Given the description of an element on the screen output the (x, y) to click on. 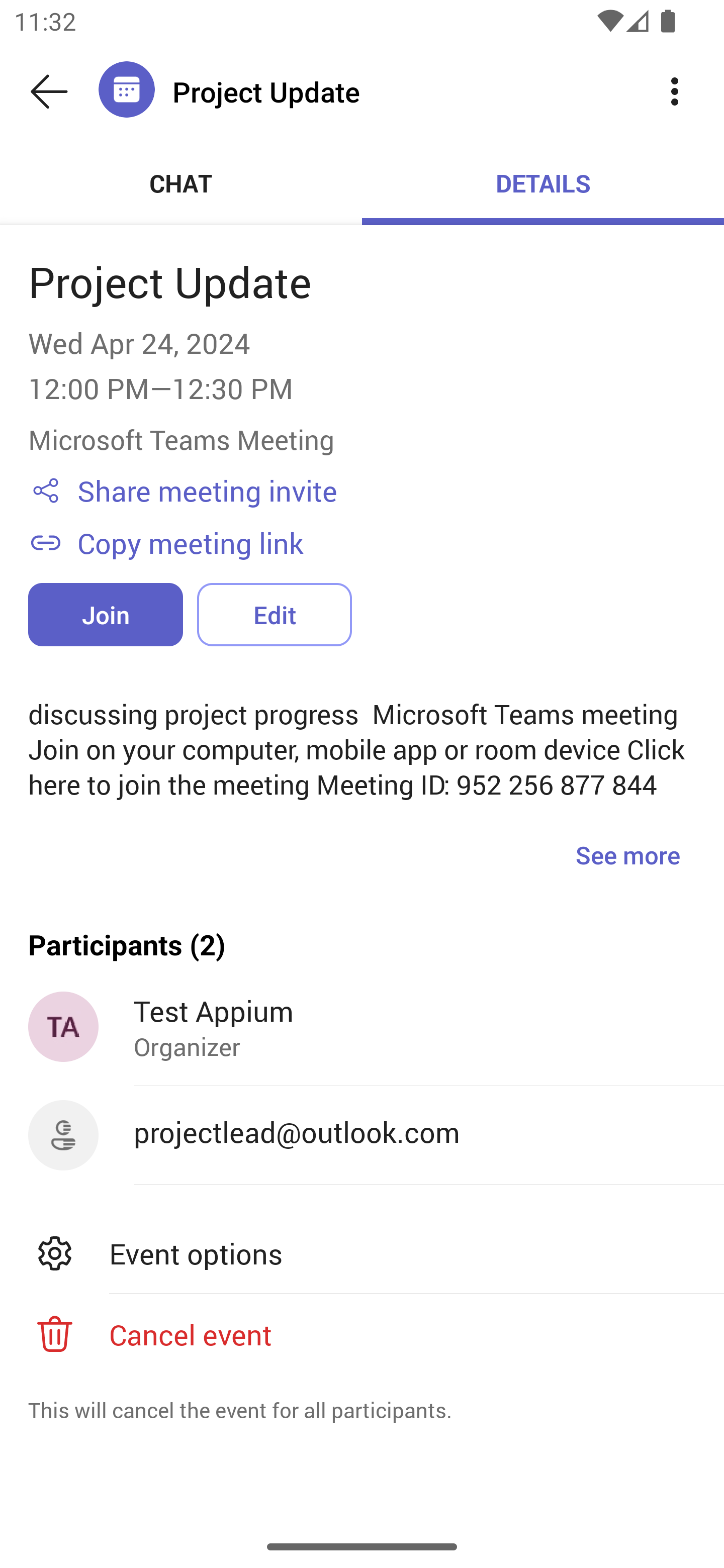
Back (49, 91)
More options (674, 90)
Project Update (398, 91)
Chat CHAT (181, 183)
Share meeting invite Share meeting invite link. (386, 490)
Copy meeting link (386, 542)
Join (105, 614)
Edit (273, 614)
See more See more detailed description (626, 854)
Test Appium profile picture Test Appium Organizer (362, 1026)
Event options (362, 1252)
